Given the description of an element on the screen output the (x, y) to click on. 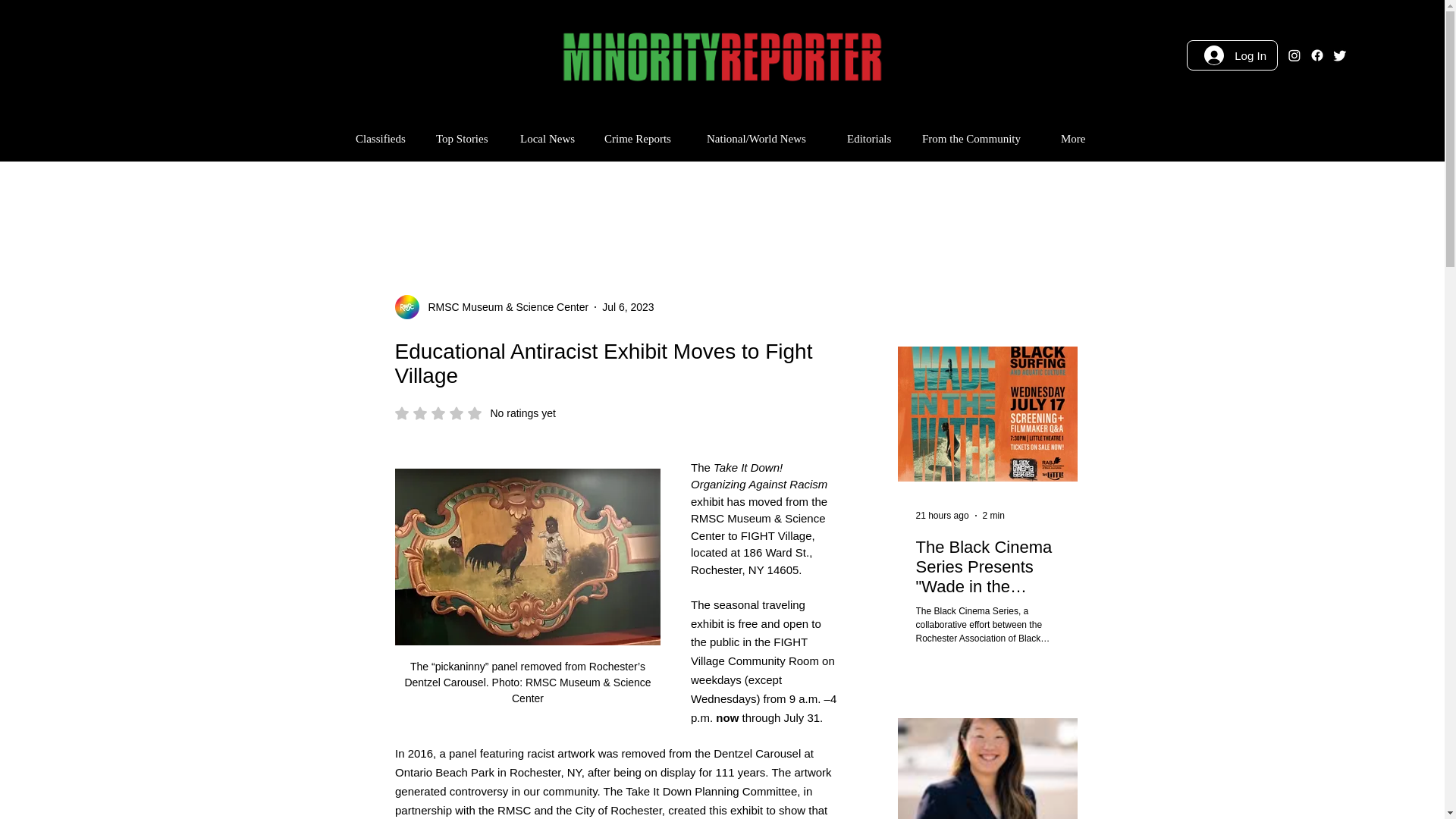
Top Stories (466, 138)
2 min (993, 515)
From the Community (980, 138)
Log In (1234, 54)
Crime Reports (643, 138)
Local News (550, 138)
Jul 6, 2023 (474, 413)
Classifieds (627, 306)
21 hours ago (384, 138)
Editorials (942, 515)
